Given the description of an element on the screen output the (x, y) to click on. 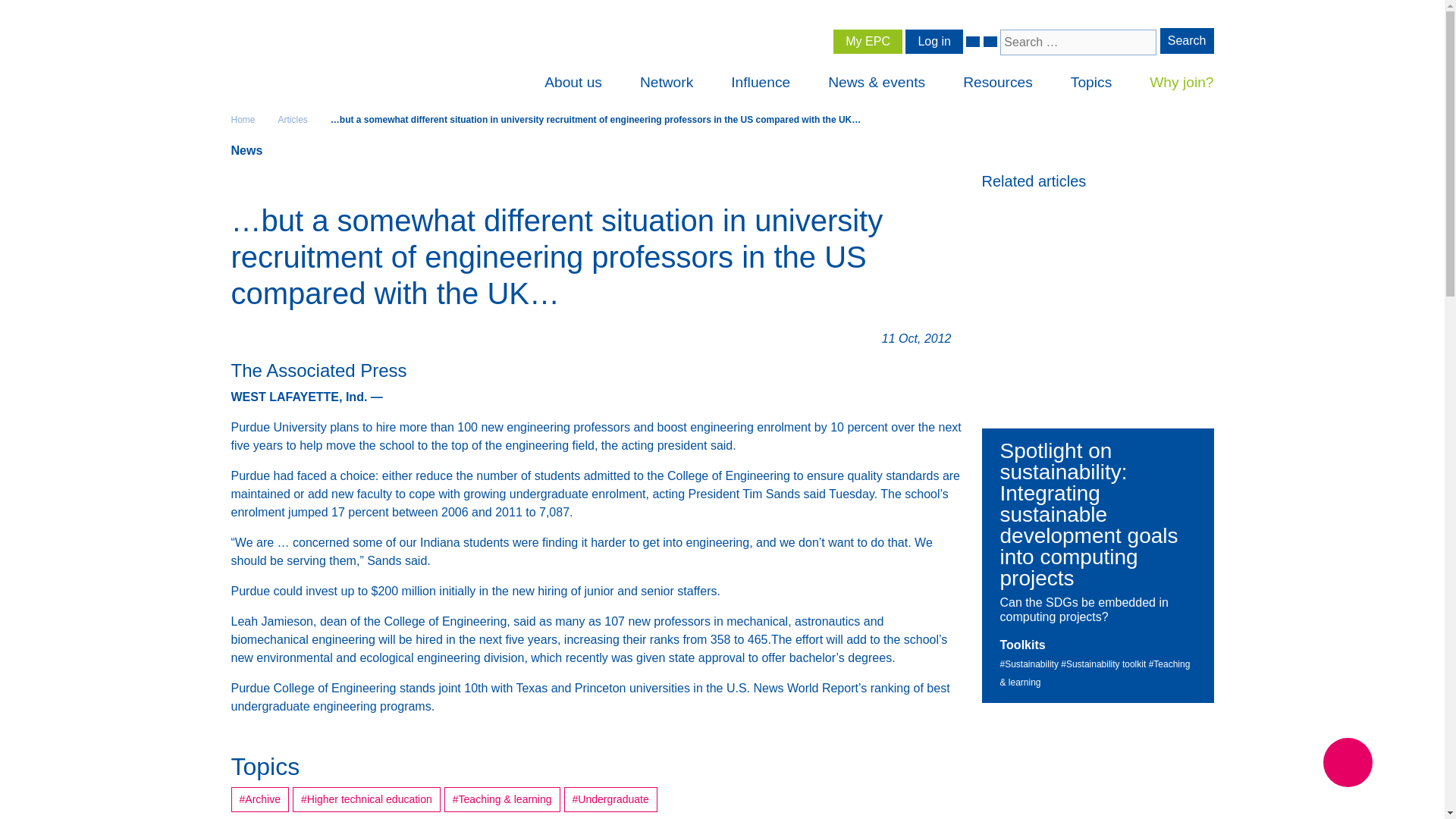
Log in (933, 41)
Home (242, 119)
About us (573, 83)
Log in (933, 41)
My EPC (867, 41)
Topics (1091, 83)
Articles (292, 119)
Why join? (1181, 83)
Influence (760, 83)
Search (1187, 40)
